Given the description of an element on the screen output the (x, y) to click on. 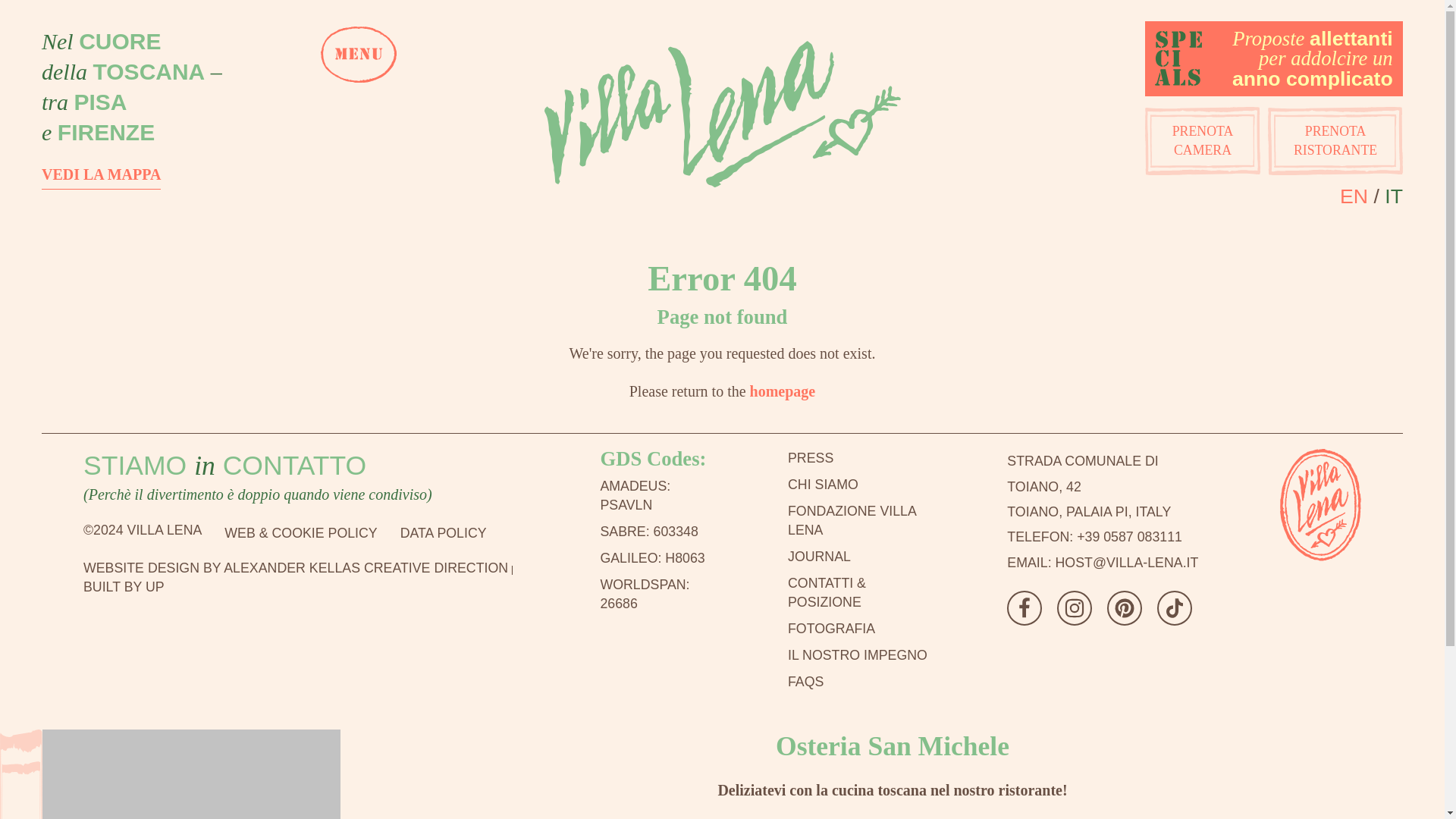
VEDI LA MAPPA (101, 174)
WEBSITE DESIGN BY ALEXANDER KELLAS CREATIVE DIRECTION (295, 567)
VILLA LENA (1282, 573)
FOTOGRAFIA (859, 628)
PRENOTA RISTORANTE (1335, 141)
PRESS (859, 457)
FAQS (859, 681)
IT (1393, 196)
VILLA LENA (1320, 504)
Book Room (1202, 141)
FONDAZIONE VILLA LENA (1088, 486)
homepage (859, 520)
Menu (782, 391)
